Given the description of an element on the screen output the (x, y) to click on. 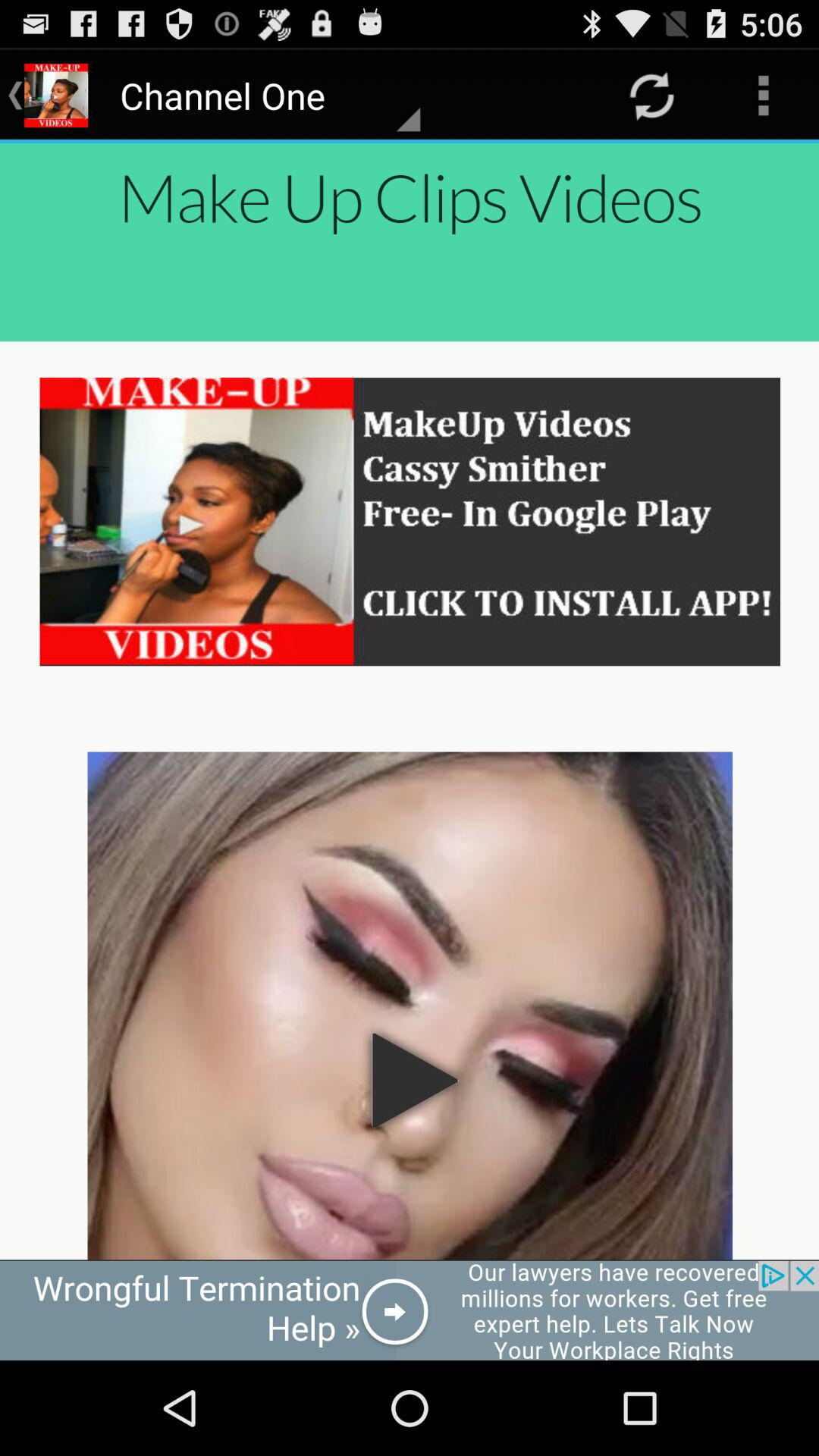
see advertisement (409, 1310)
